Given the description of an element on the screen output the (x, y) to click on. 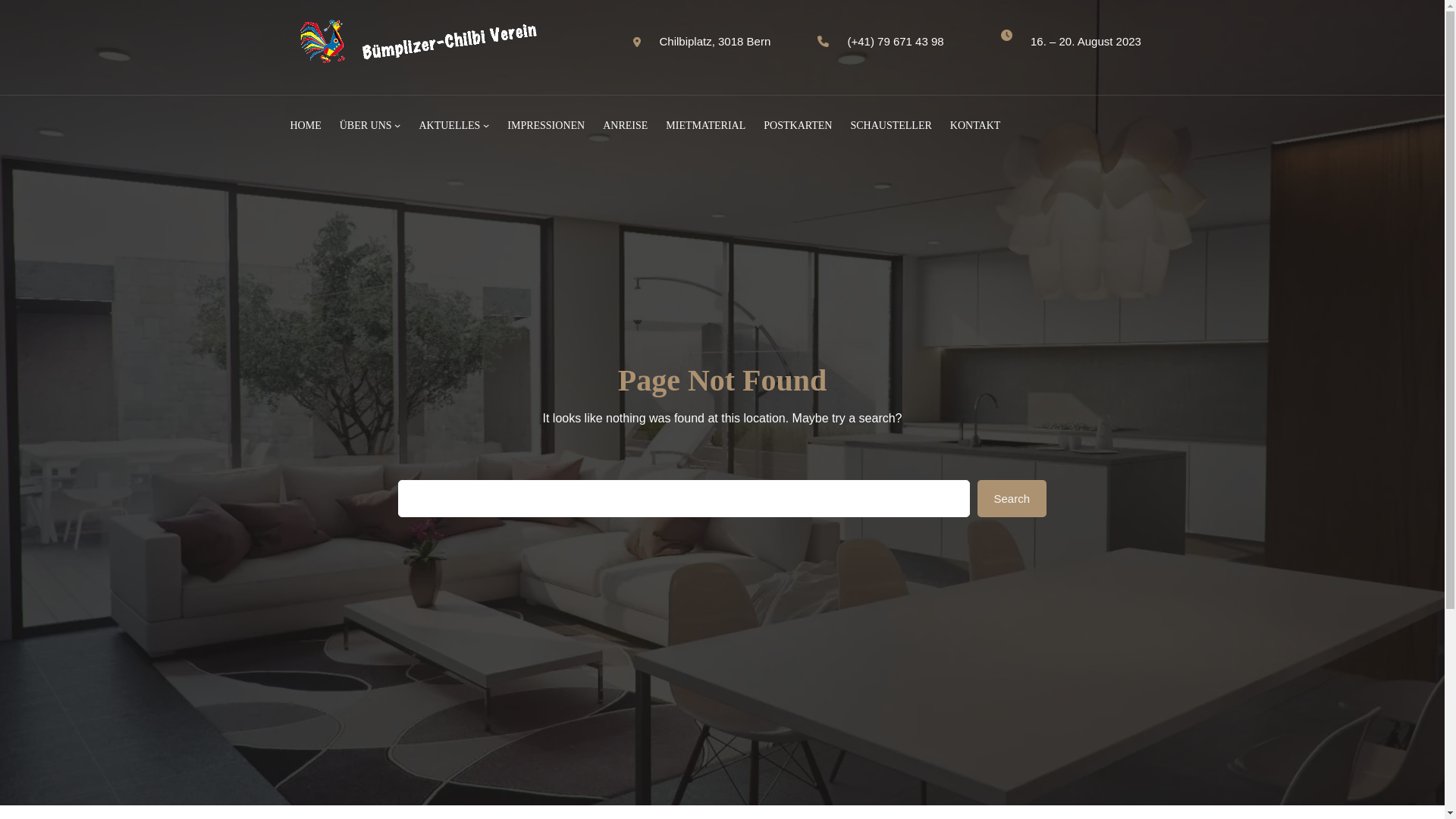
POSTKARTEN Element type: text (797, 125)
Search Element type: text (1011, 498)
HOME Element type: text (304, 125)
IMPRESSIONEN Element type: text (545, 125)
MIETMATERIAL Element type: text (705, 125)
ANREISE Element type: text (624, 125)
KONTAKT Element type: text (975, 125)
AKTUELLES Element type: text (449, 125)
SCHAUSTELLER Element type: text (890, 125)
